Given the description of an element on the screen output the (x, y) to click on. 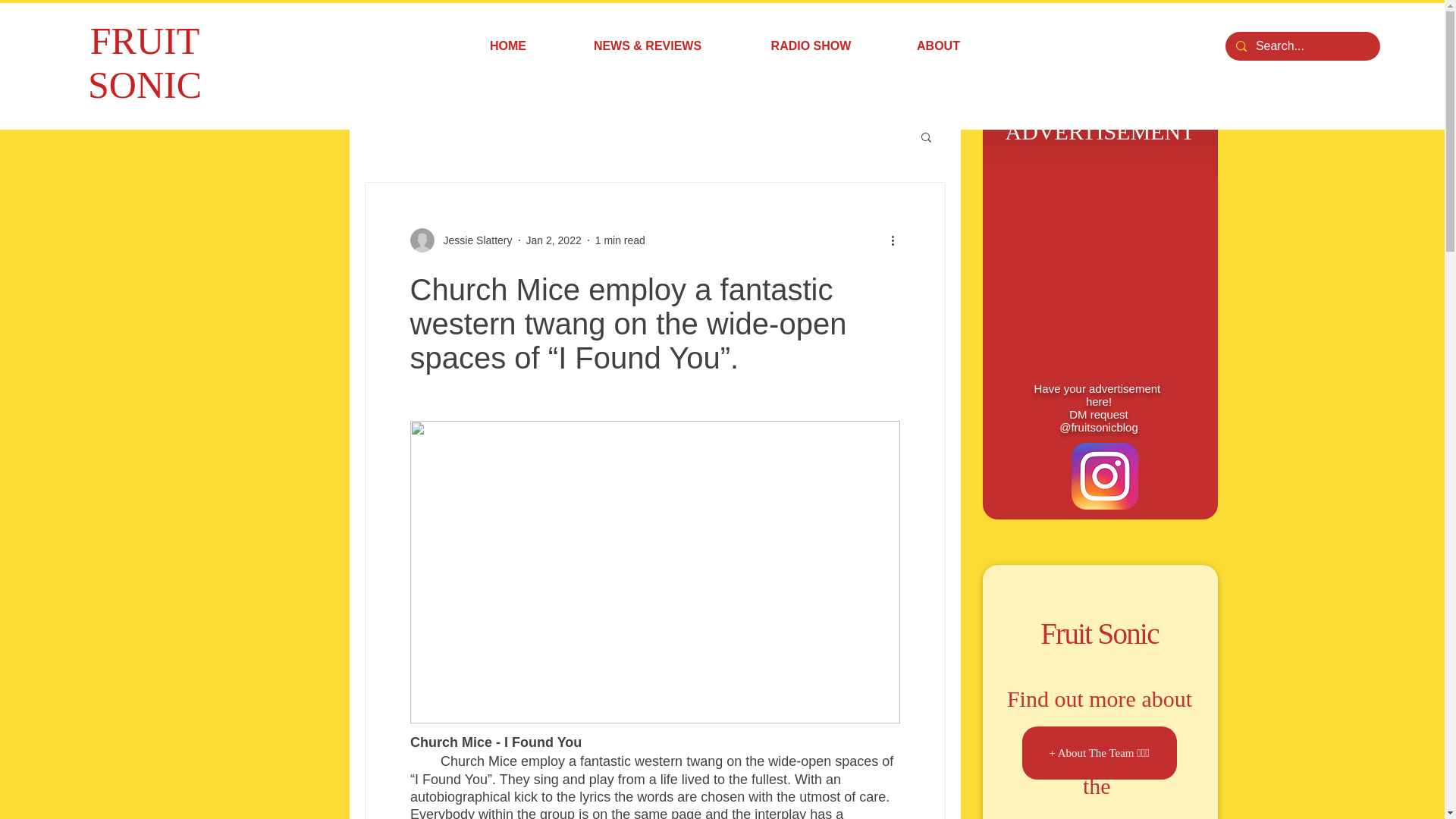
Jessie Slattery (472, 239)
Jessie Slattery (460, 240)
Jan 2, 2022 (552, 239)
FRUIT SONIC (144, 62)
ABOUT (938, 45)
1 min read (620, 239)
HOME (508, 45)
RADIO SHOW (810, 45)
